Given the description of an element on the screen output the (x, y) to click on. 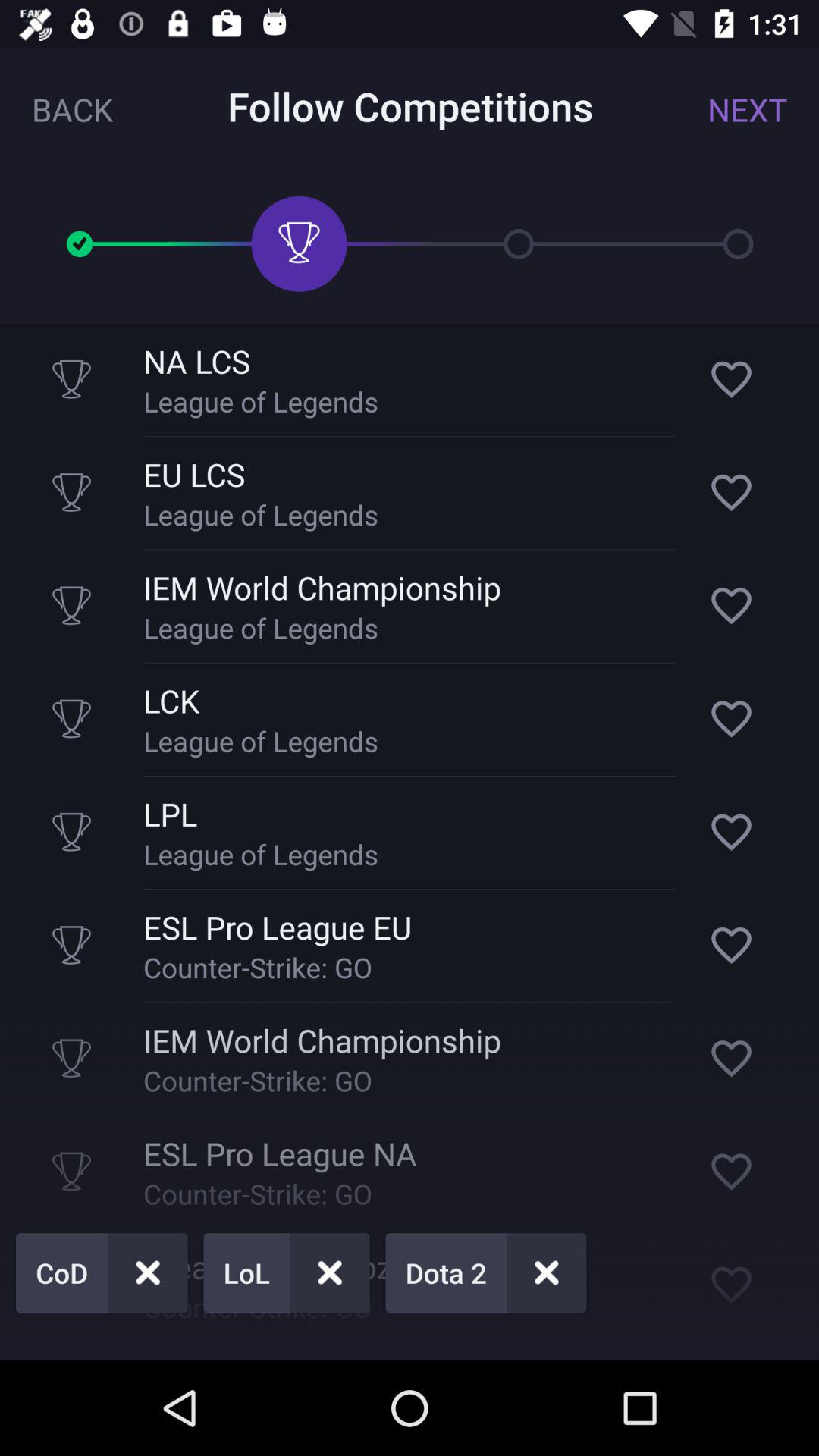
click on button left to lol (101, 1273)
